Given the description of an element on the screen output the (x, y) to click on. 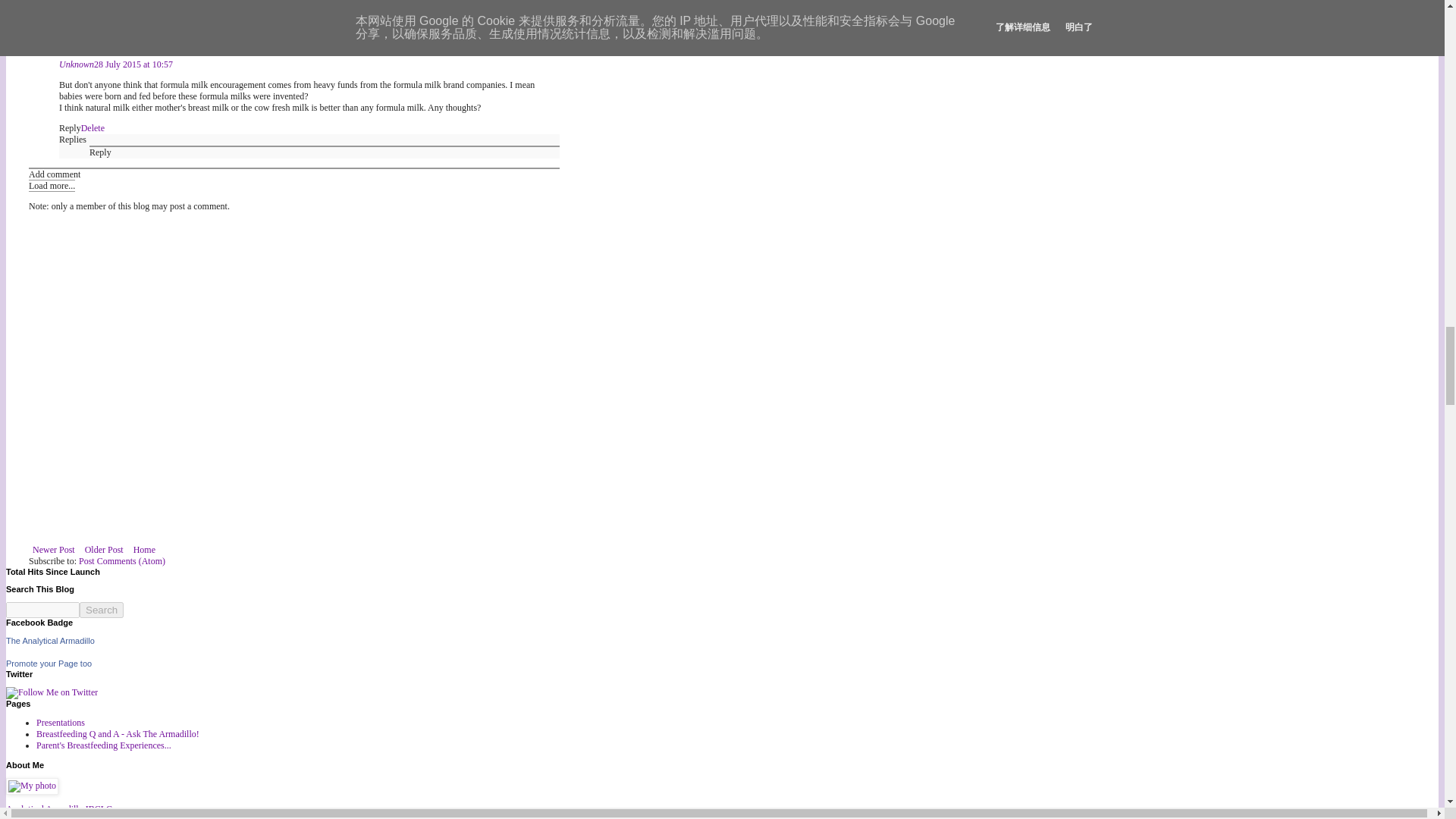
search (101, 609)
search (42, 609)
Older Post (104, 549)
The Analytical Armadillo (49, 640)
Make your own badge! (48, 663)
Search (101, 609)
Search (101, 609)
Newer Post (53, 549)
